Given the description of an element on the screen output the (x, y) to click on. 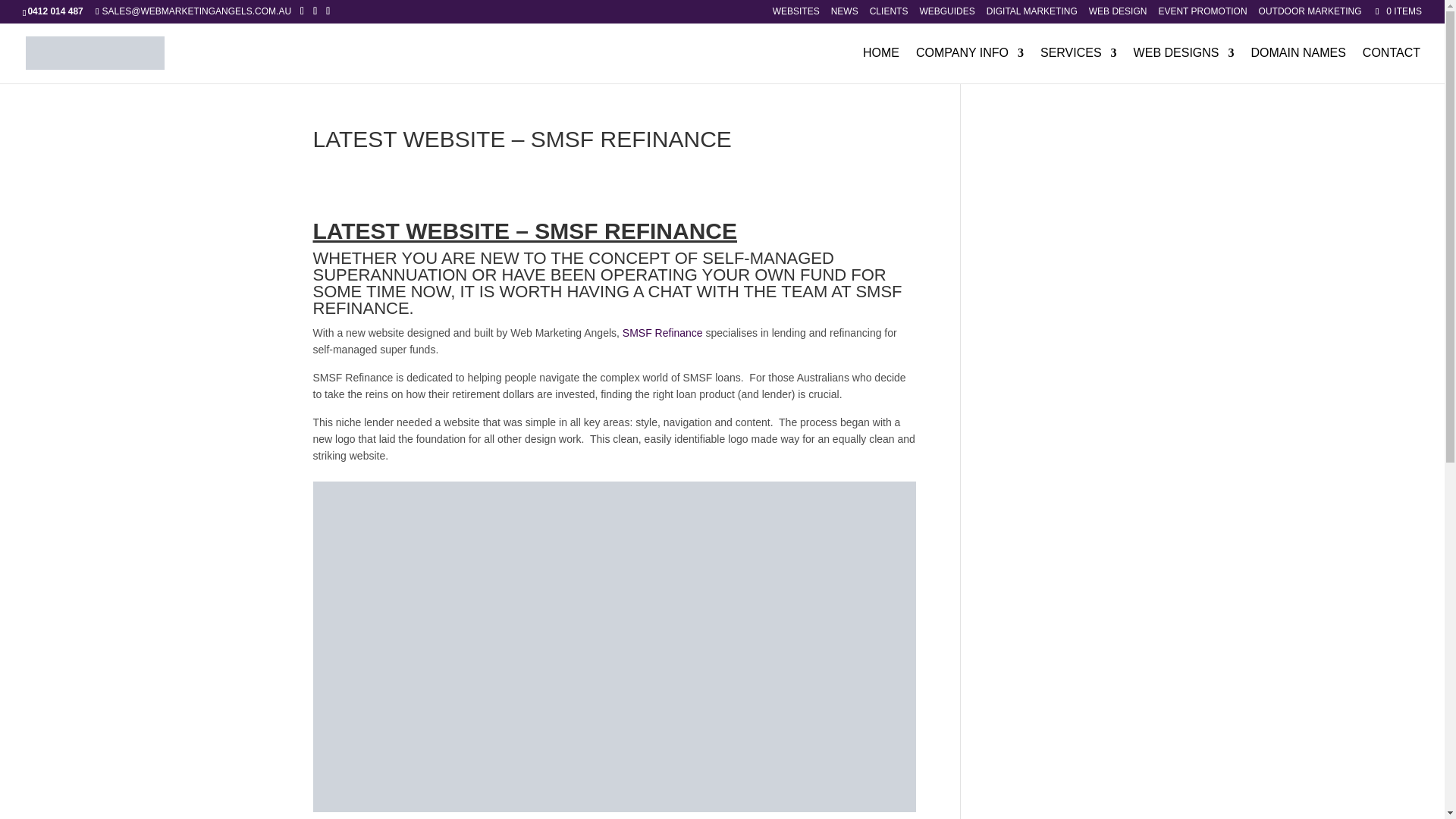
NEWS (845, 14)
0 ITEMS (1397, 10)
WEBGUIDES (946, 14)
EVENT PROMOTION (1201, 14)
SERVICES (1078, 65)
CLIENTS (888, 14)
WEBSITES (796, 14)
COMPANY INFO (969, 65)
HOME (881, 65)
